Given the description of an element on the screen output the (x, y) to click on. 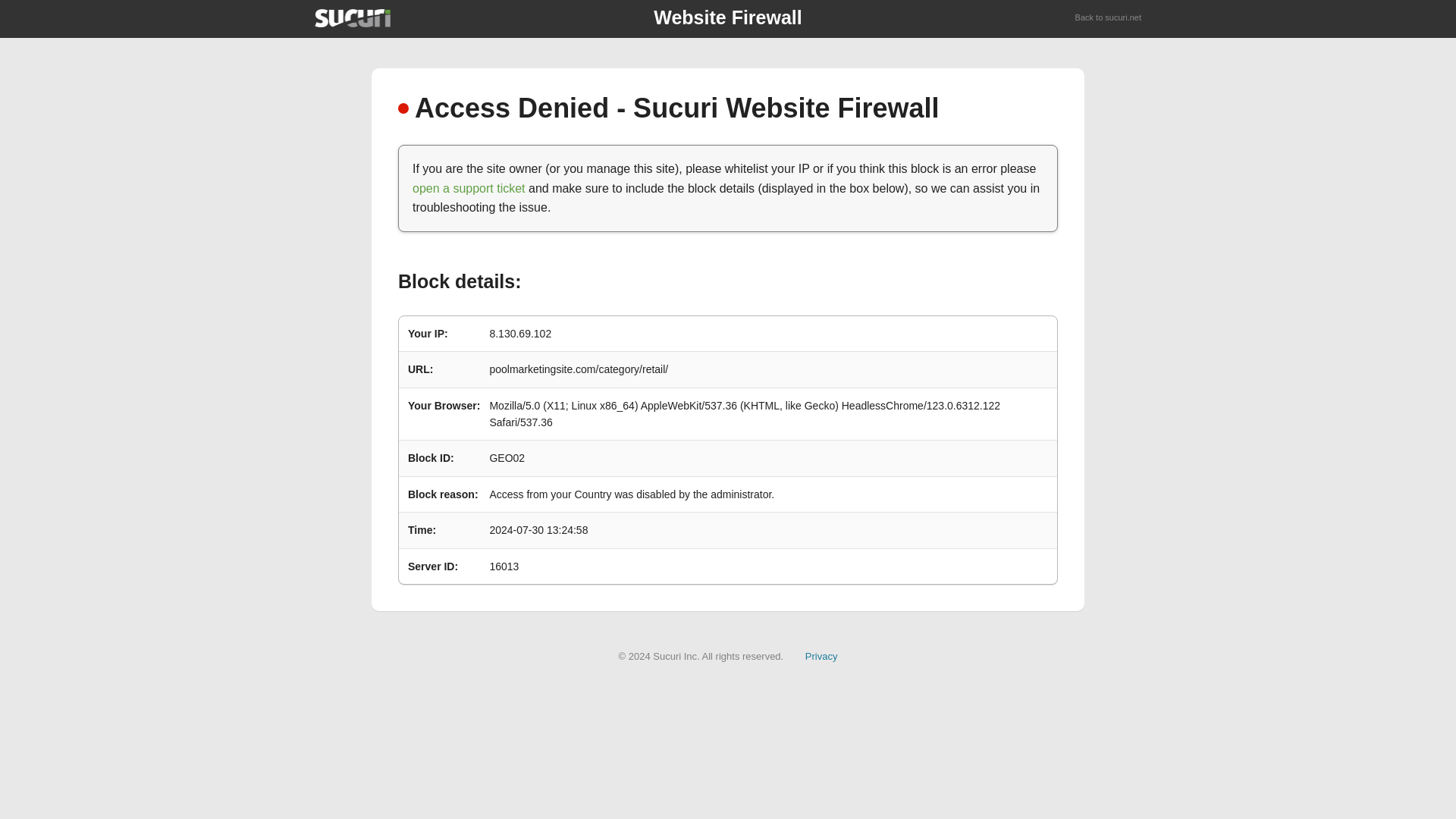
open a support ticket (468, 187)
Back to sucuri.net (1108, 18)
Privacy (821, 655)
